Given the description of an element on the screen output the (x, y) to click on. 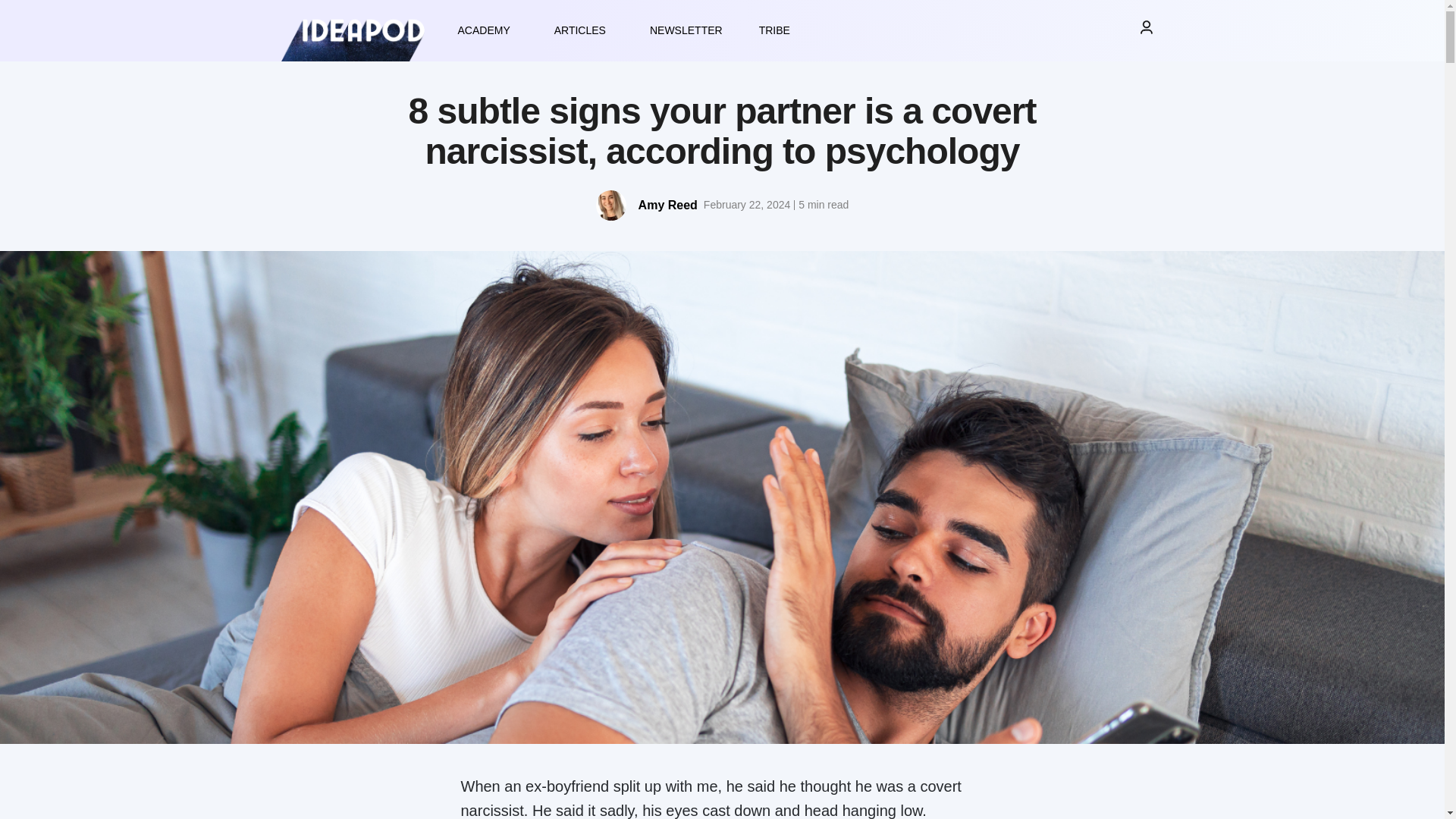
NEWSLETTER (686, 30)
ARTICLES (583, 30)
ACADEMY (487, 30)
